Given the description of an element on the screen output the (x, y) to click on. 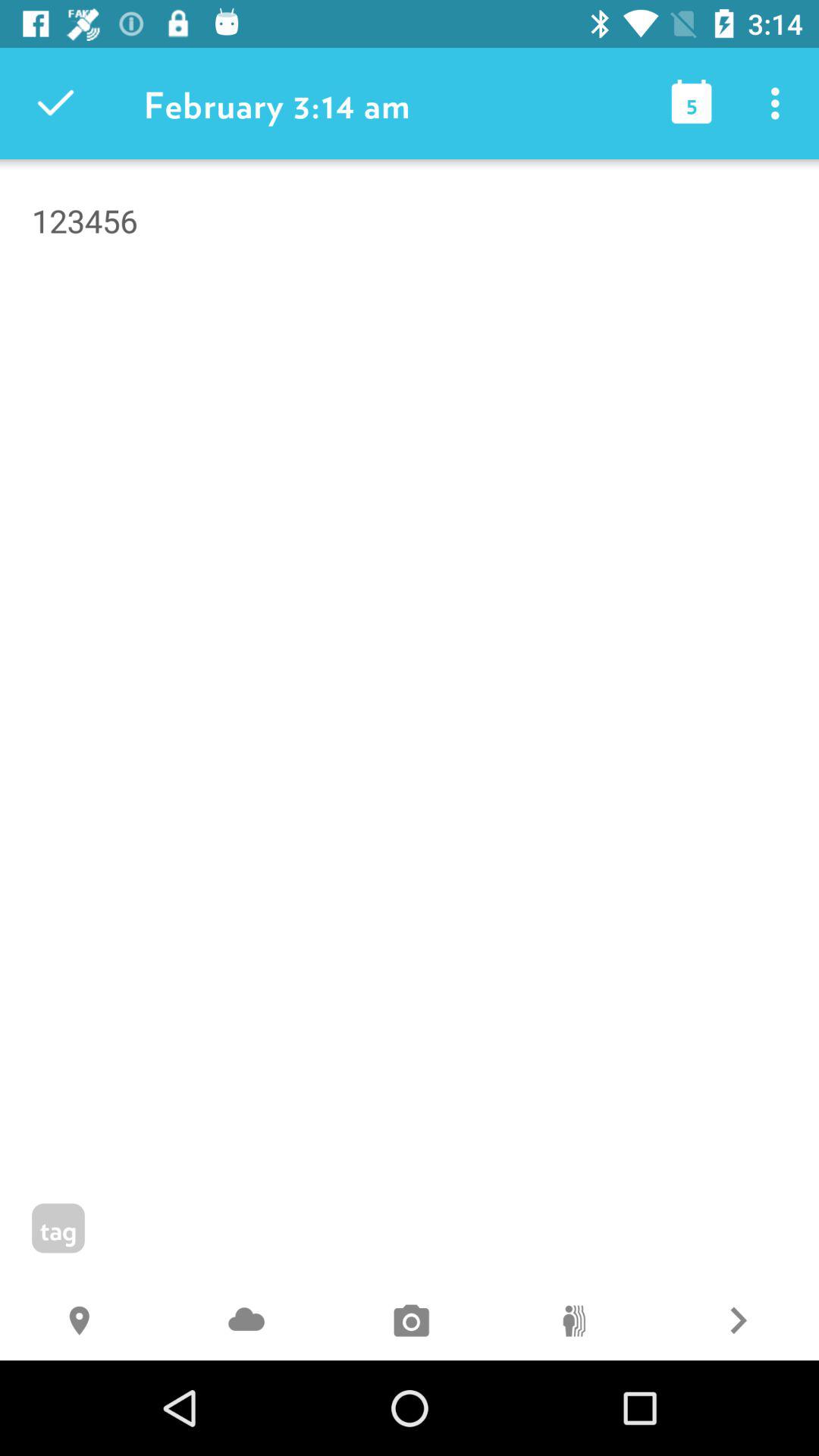
press icon to the right of 0 item (737, 1322)
